Given the description of an element on the screen output the (x, y) to click on. 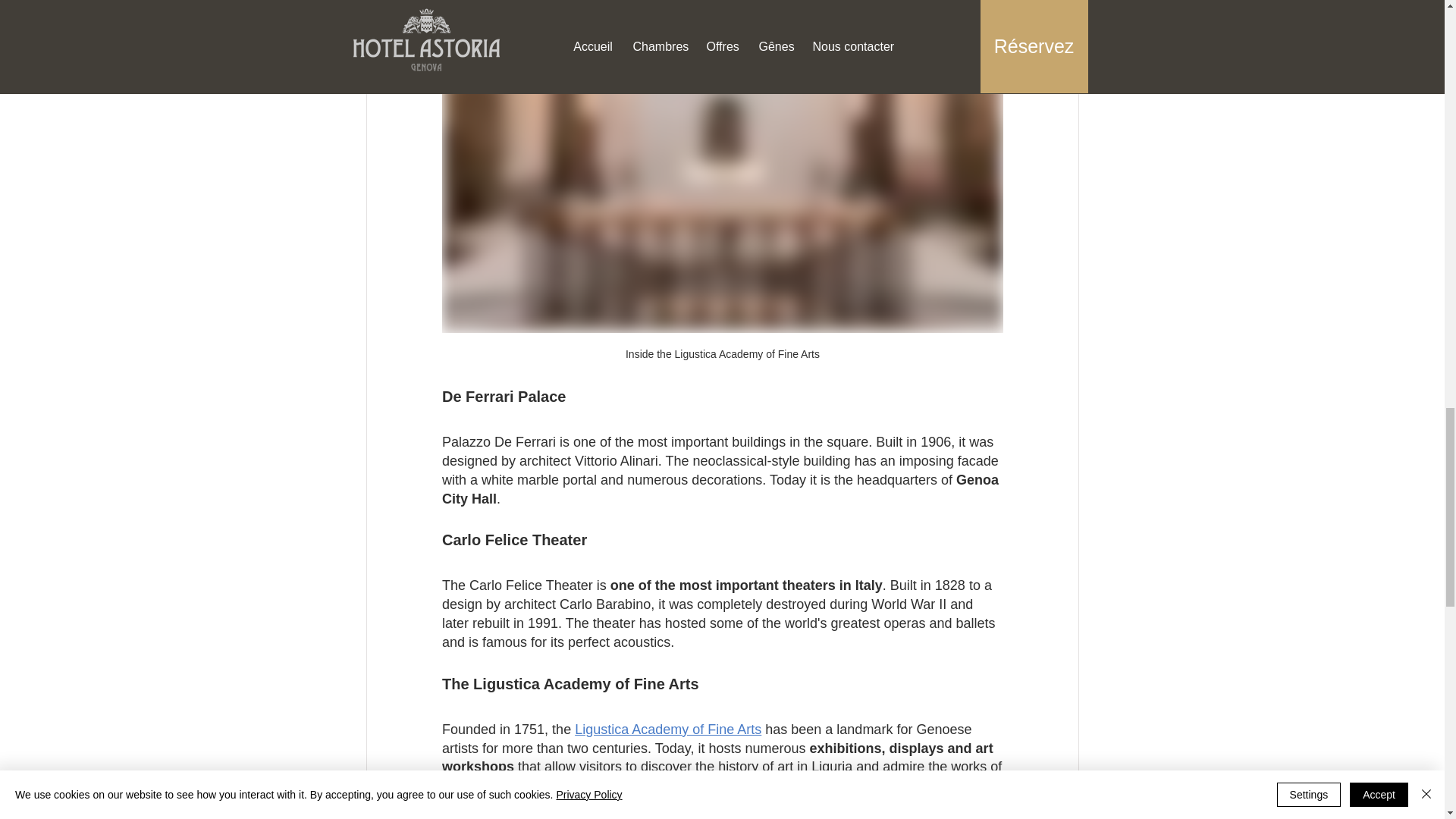
Ligustica Academy of Fine Arts (668, 729)
